Given the description of an element on the screen output the (x, y) to click on. 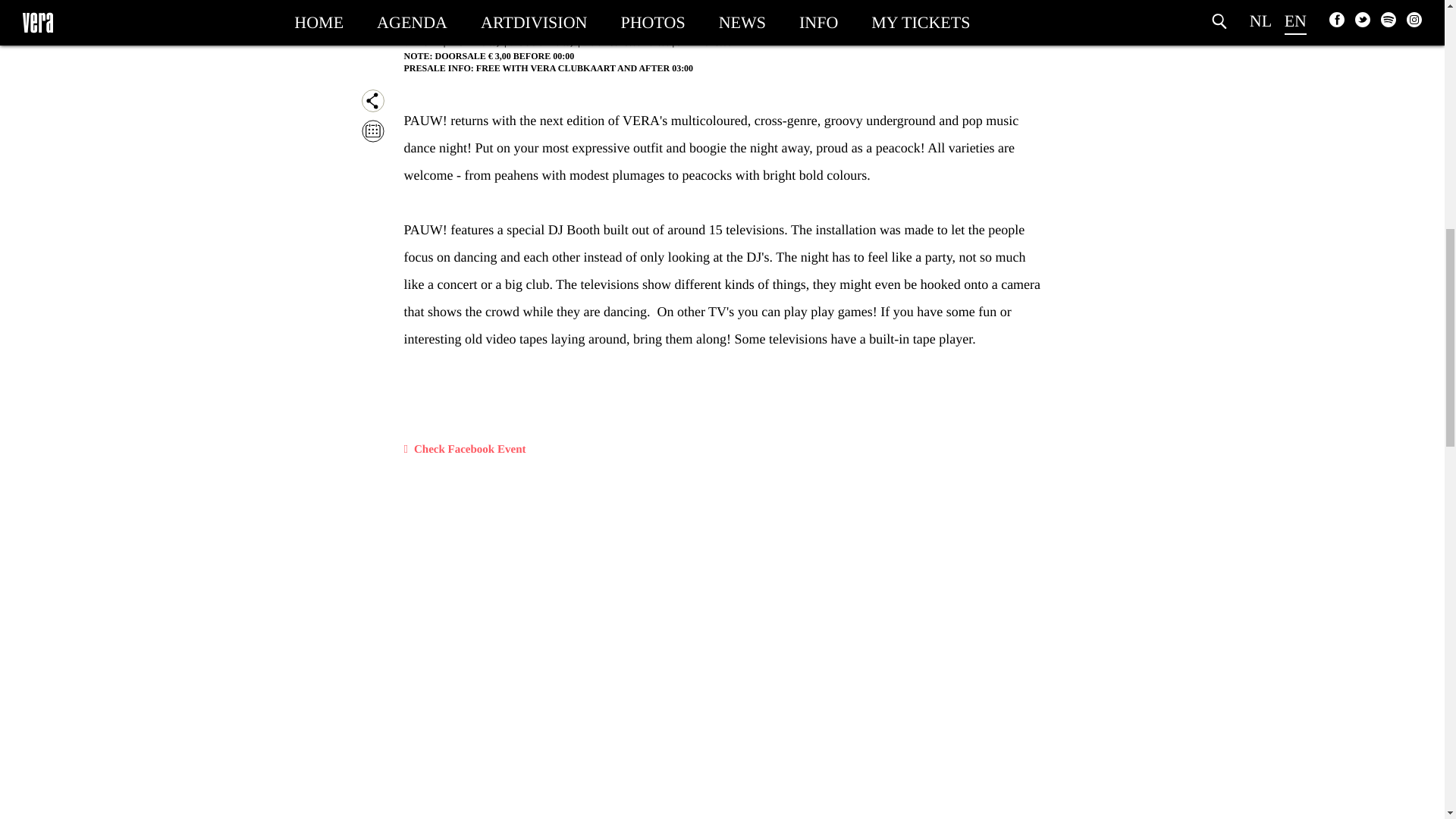
DISCOUNT: (533, 42)
Check Facebook Event (464, 450)
Add to agenda (372, 130)
Share (372, 100)
